Given the description of an element on the screen output the (x, y) to click on. 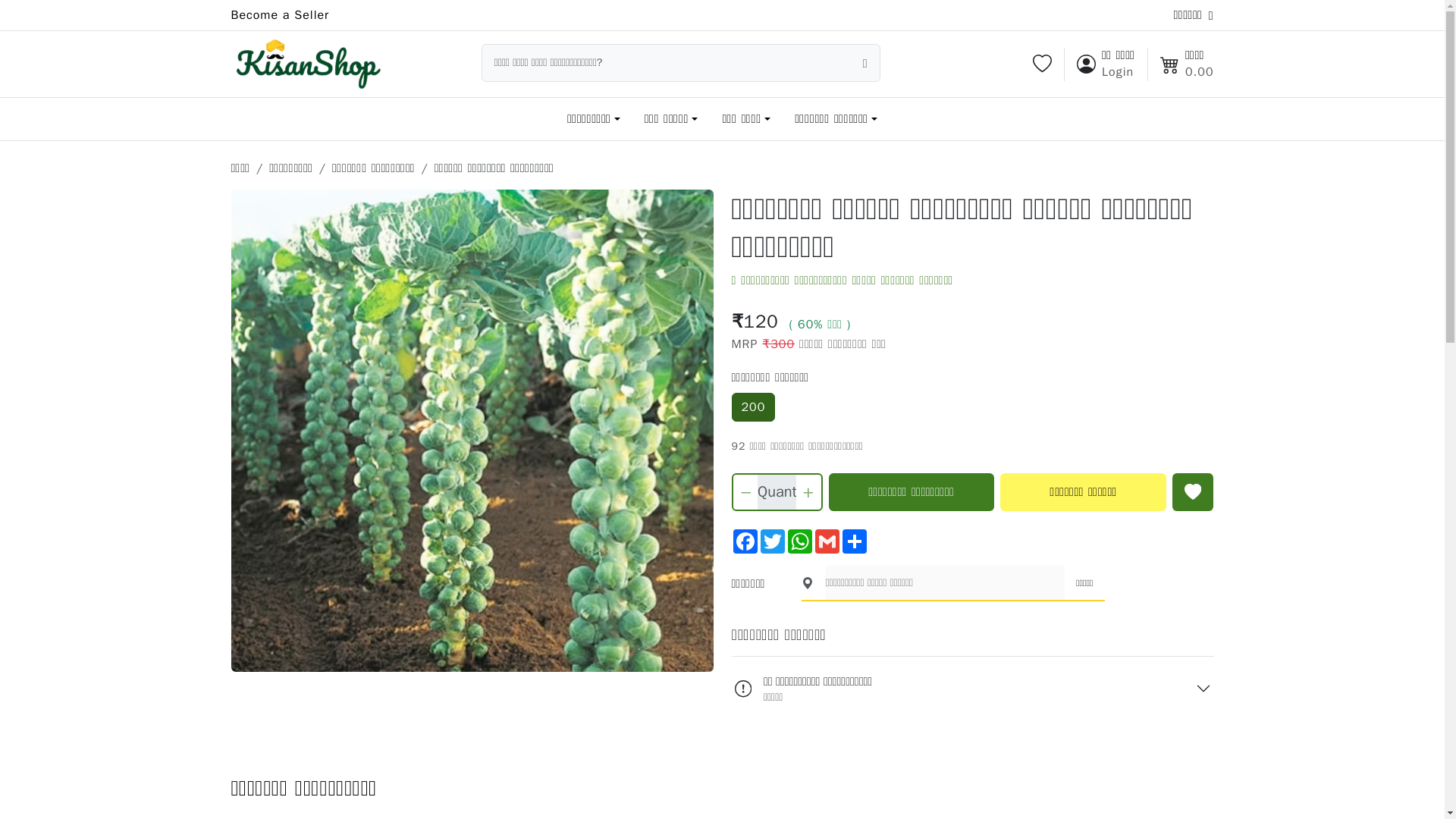
200 (752, 407)
Buy Now (1083, 492)
Add to Cart (911, 492)
KisanShop (305, 63)
Become a Seller (279, 14)
Add to WishList (1192, 492)
Become a Seller (279, 14)
